Given the description of an element on the screen output the (x, y) to click on. 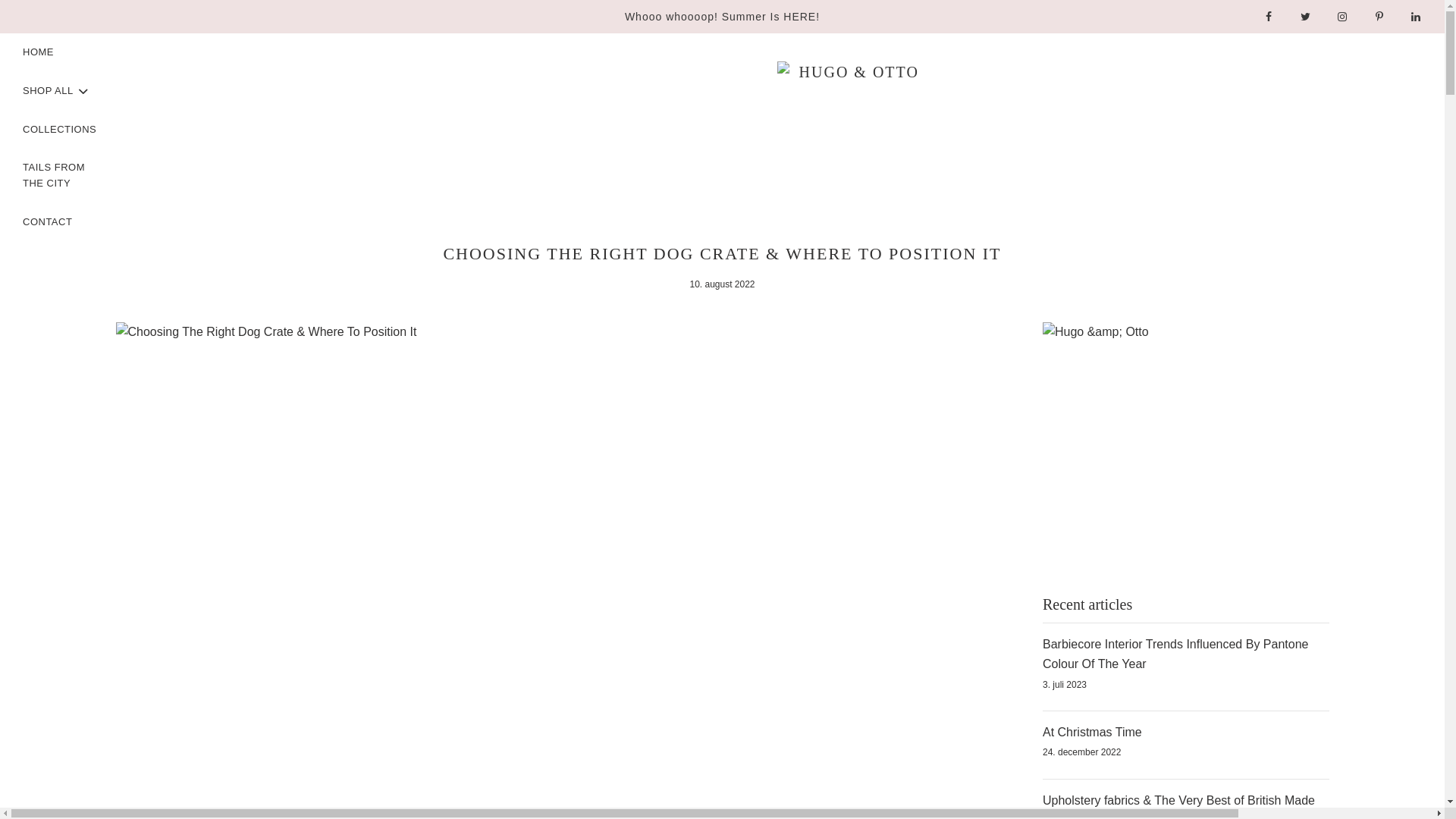
SHOP ALL (56, 91)
HOME (38, 52)
